Given the description of an element on the screen output the (x, y) to click on. 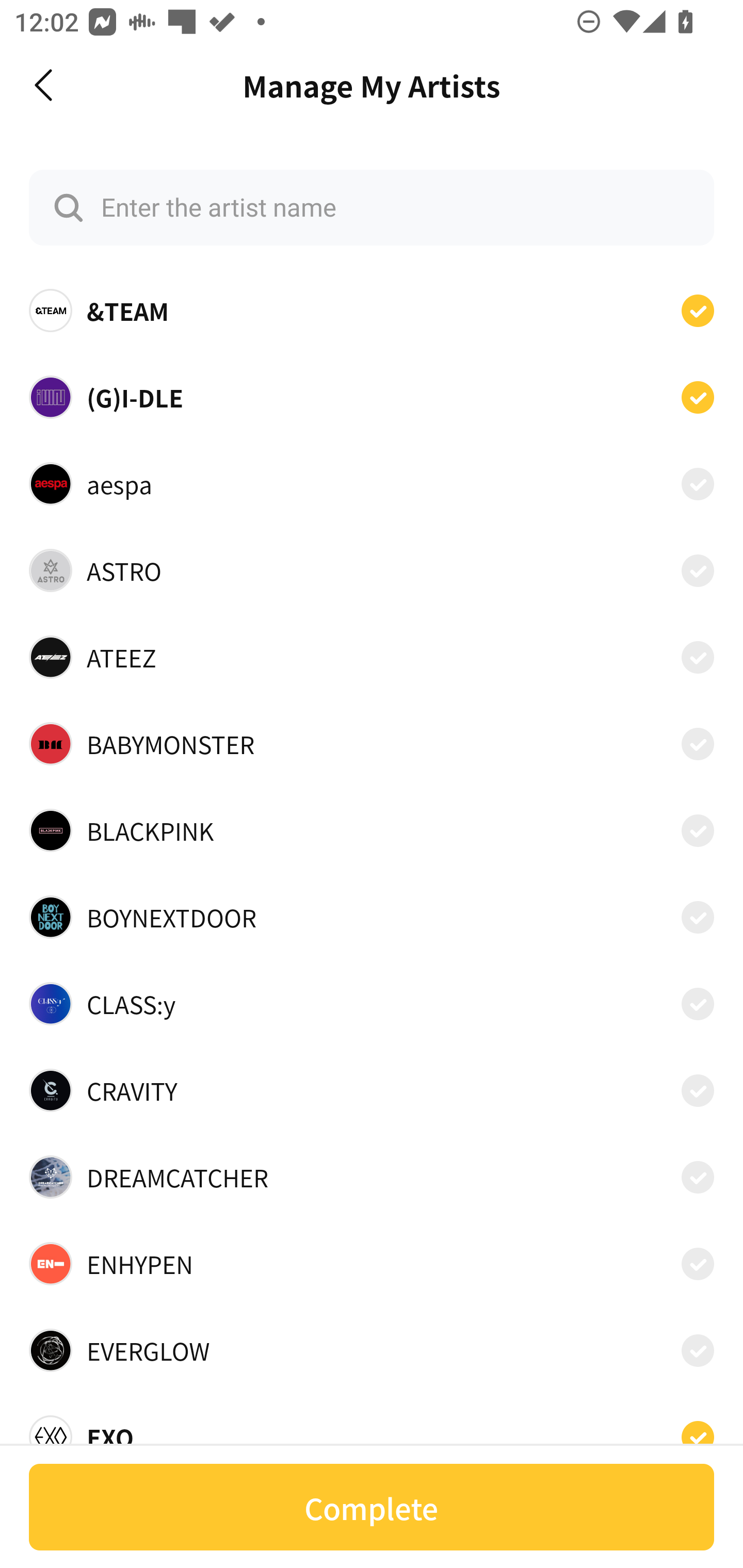
Enter the artist name (371, 207)
&TEAM (371, 310)
(G)I-DLE (371, 396)
aespa (371, 483)
ASTRO (371, 570)
ATEEZ (371, 656)
BABYMONSTER (371, 743)
BLACKPINK (371, 830)
BOYNEXTDOOR (371, 917)
CLASS:y (371, 1003)
CRAVITY (371, 1090)
DREAMCATCHER (371, 1176)
ENHYPEN (371, 1263)
EVERGLOW (371, 1350)
EXO (371, 1430)
Complete (371, 1507)
